Given the description of an element on the screen output the (x, y) to click on. 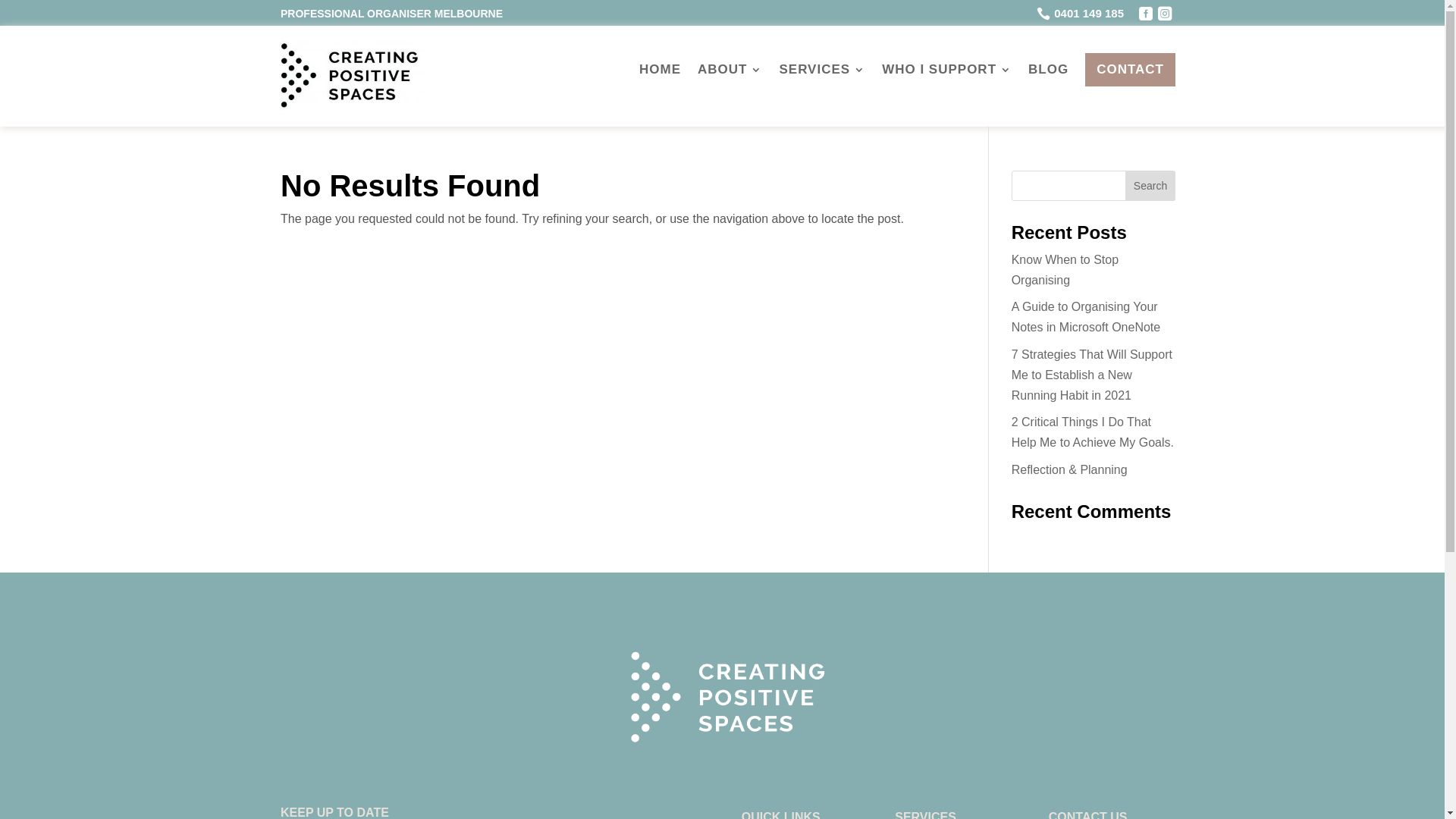
BLOG Element type: text (1048, 69)
Know When to Stop Organising Element type: text (1064, 269)
SERVICES Element type: text (821, 69)
Reflection & Planning Element type: text (1069, 469)
CONTACT Element type: text (1130, 69)
HOME Element type: text (659, 69)
A Guide to Organising Your Notes in Microsoft OneNote Element type: text (1086, 316)
2 Critical Things I Do That Help Me to Achieve My Goals. Element type: text (1092, 431)
Final Logo_Clear Background-cropped Element type: hover (727, 701)
ABOUT Element type: text (729, 69)
Search Element type: text (1150, 185)
WHO I SUPPORT Element type: text (946, 69)
